Given the description of an element on the screen output the (x, y) to click on. 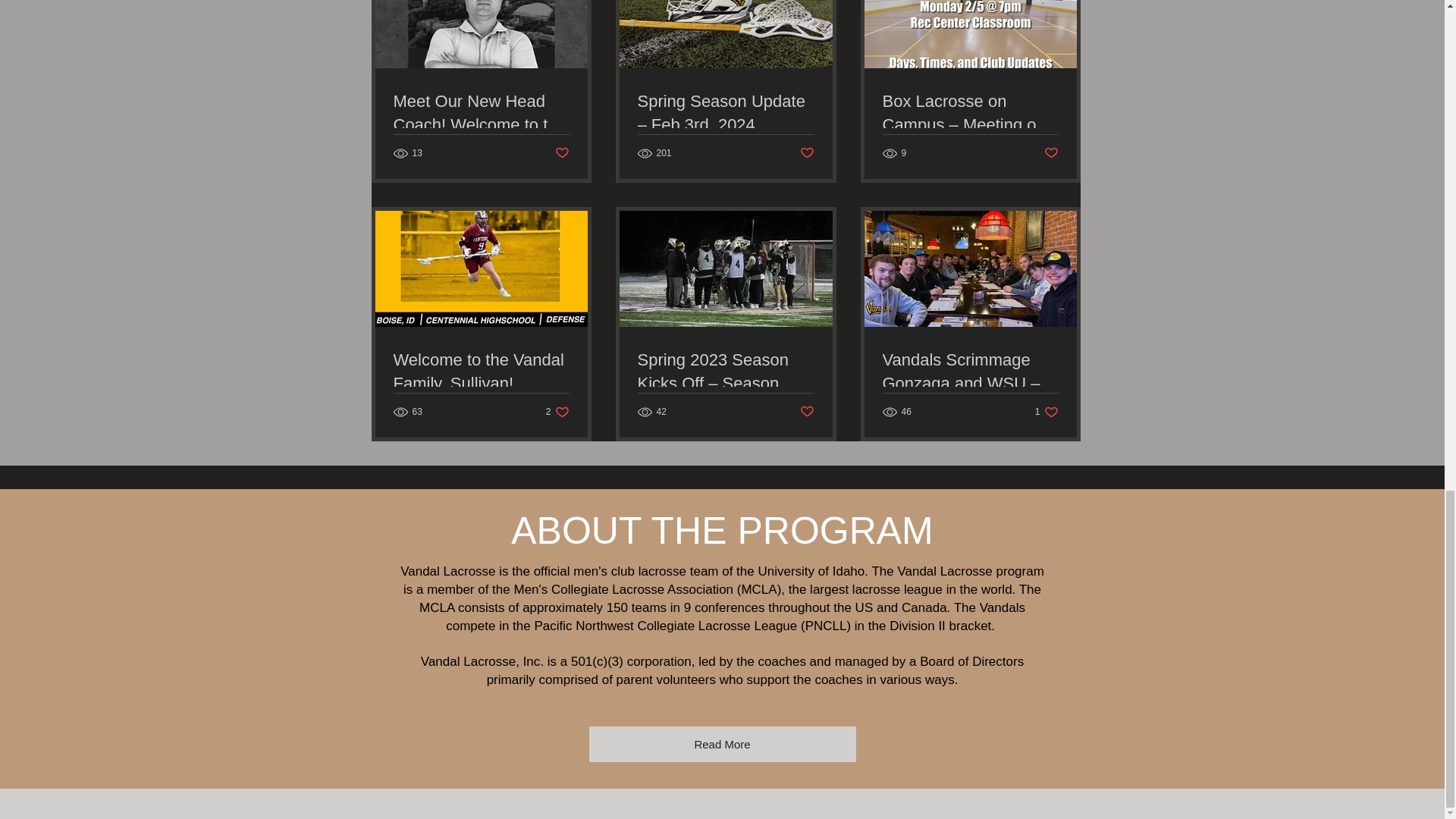
Post not marked as liked (806, 153)
Welcome to the Vandal Family, Sullivan! (481, 371)
Post not marked as liked (1050, 153)
Meet Our New Head Coach! Welcome to the Vandal Family, Jim! (481, 113)
Post not marked as liked (806, 412)
Post not marked as liked (561, 153)
